Given the description of an element on the screen output the (x, y) to click on. 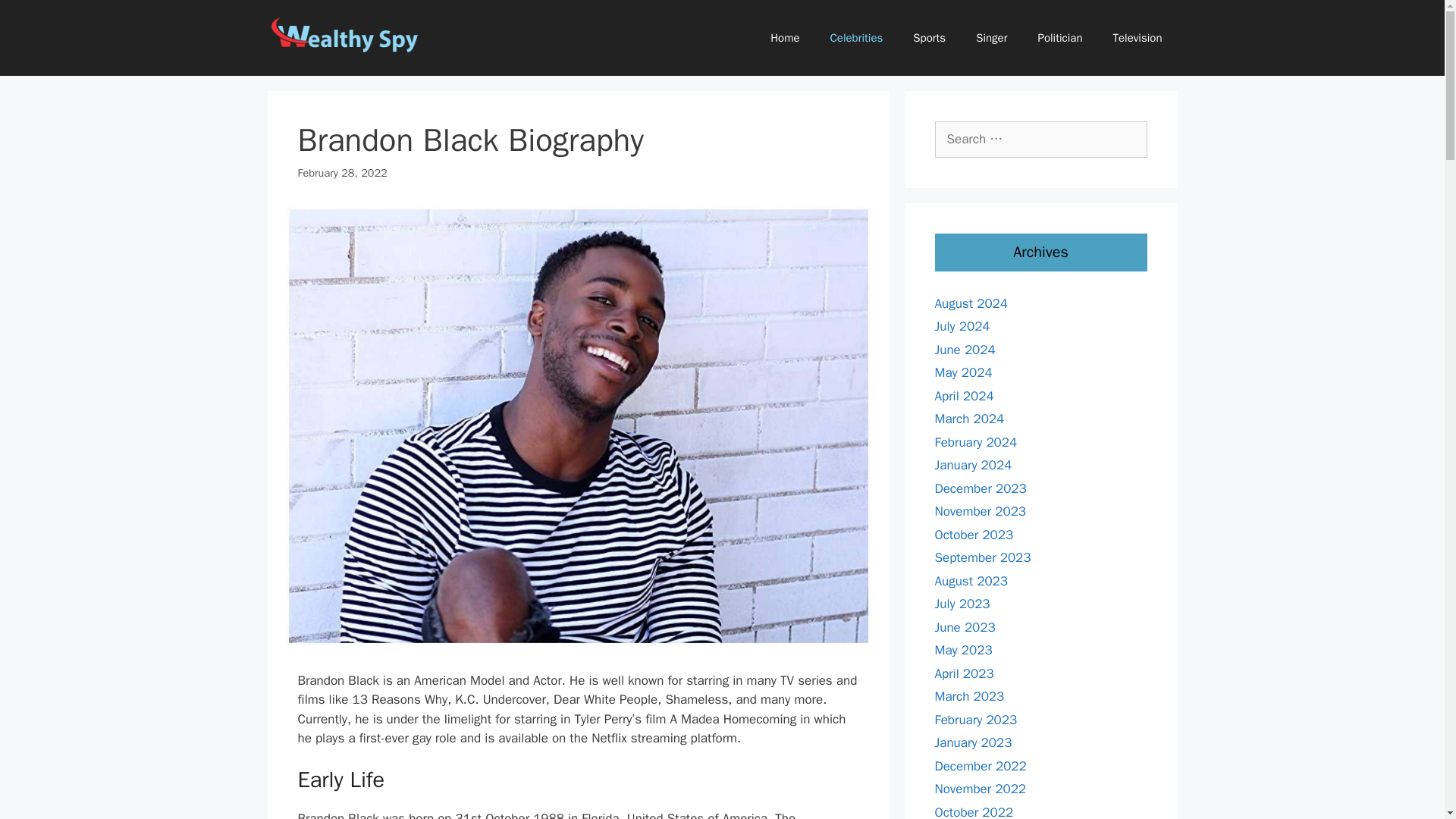
Search for: (1040, 139)
Sports (929, 37)
April 2024 (963, 396)
Search (35, 18)
March 2024 (969, 418)
August 2024 (970, 303)
October 2023 (973, 534)
August 2023 (970, 580)
January 2024 (972, 465)
Celebrities (856, 37)
